Given the description of an element on the screen output the (x, y) to click on. 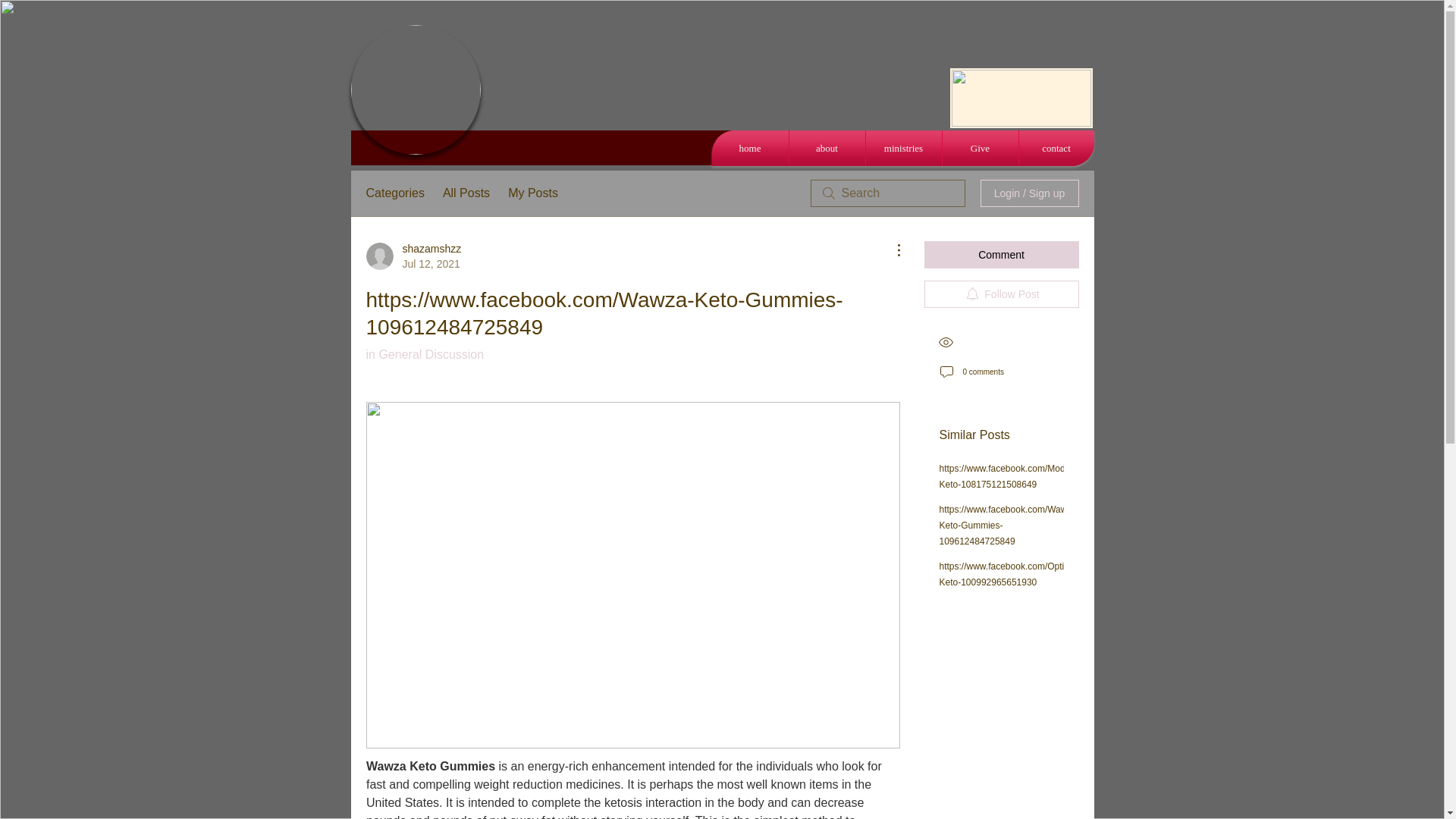
Give (979, 148)
Follow Post (1000, 293)
Wawza Keto Gummies (430, 766)
Comment (1000, 254)
ministries (904, 148)
Categories (394, 193)
about (826, 148)
in General Discussion (424, 354)
All Posts (465, 193)
contact (1056, 148)
